Given the description of an element on the screen output the (x, y) to click on. 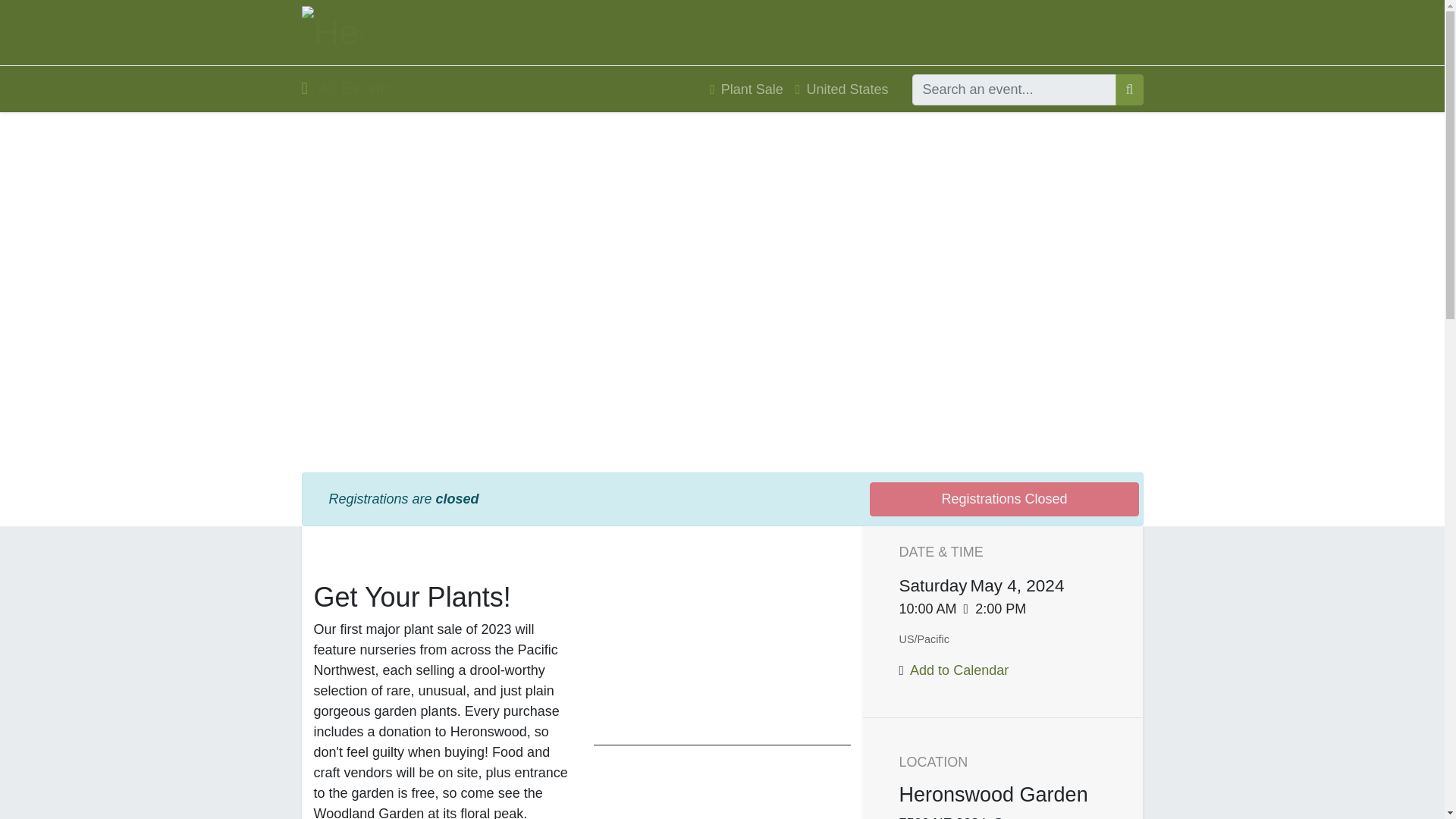
Plant Sale (746, 89)
All Events (347, 88)
Search (1128, 89)
Registrations Closed (1003, 499)
Add to Calendar (959, 670)
United States (841, 89)
Heronswood Garden (331, 31)
